Given the description of an element on the screen output the (x, y) to click on. 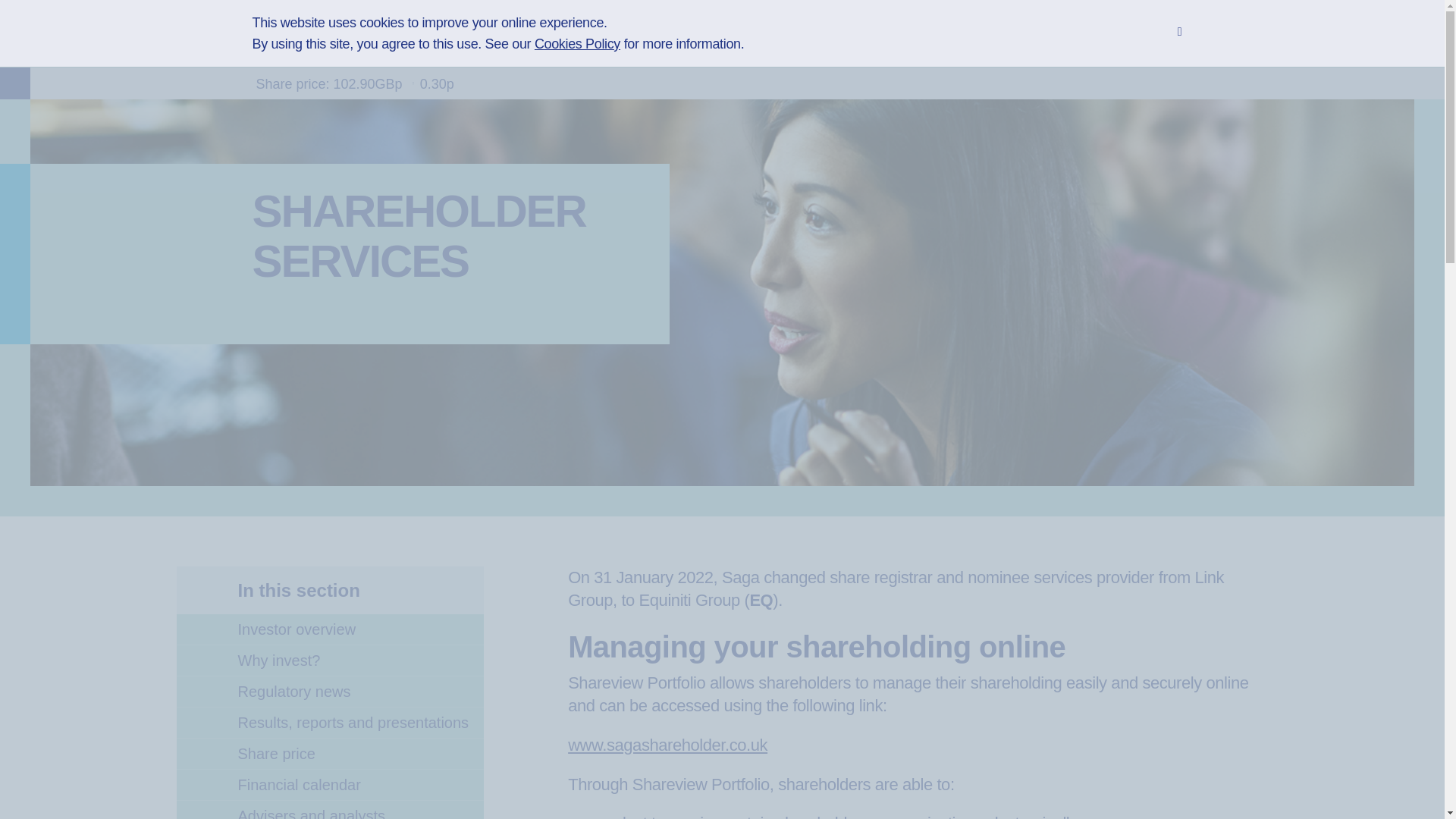
Careers (744, 41)
About us (561, 41)
Saga plc (460, 41)
News (824, 41)
Cookies Policy (577, 43)
Contact us (912, 41)
Cookies Policy (577, 43)
Investors (653, 41)
